Given the description of an element on the screen output the (x, y) to click on. 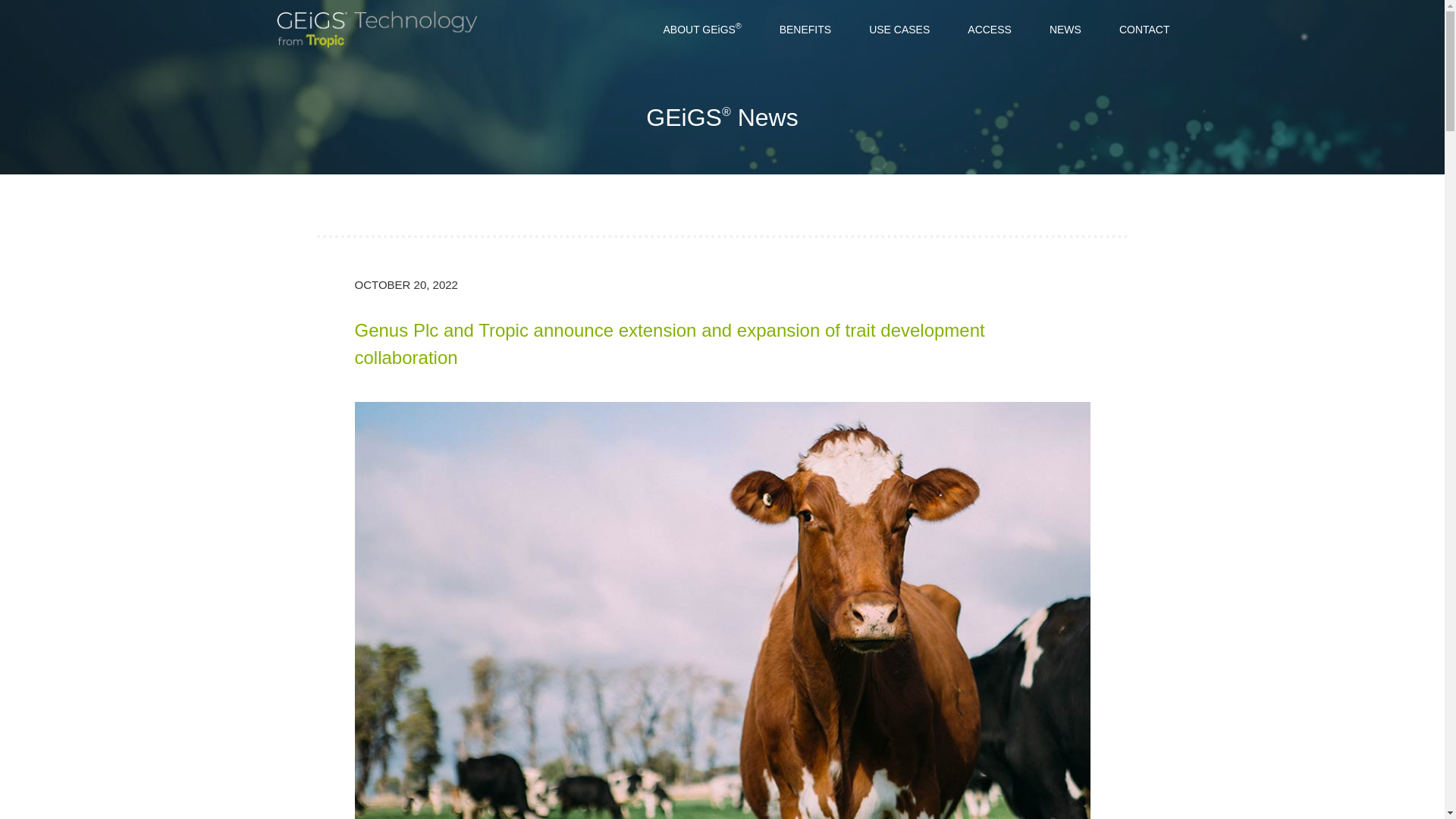
USE CASES (899, 28)
BENEFITS (804, 28)
OCTOBER 20, 2022 (406, 284)
CONTACT (1144, 28)
ACCESS (989, 28)
NEWS (1065, 28)
